Given the description of an element on the screen output the (x, y) to click on. 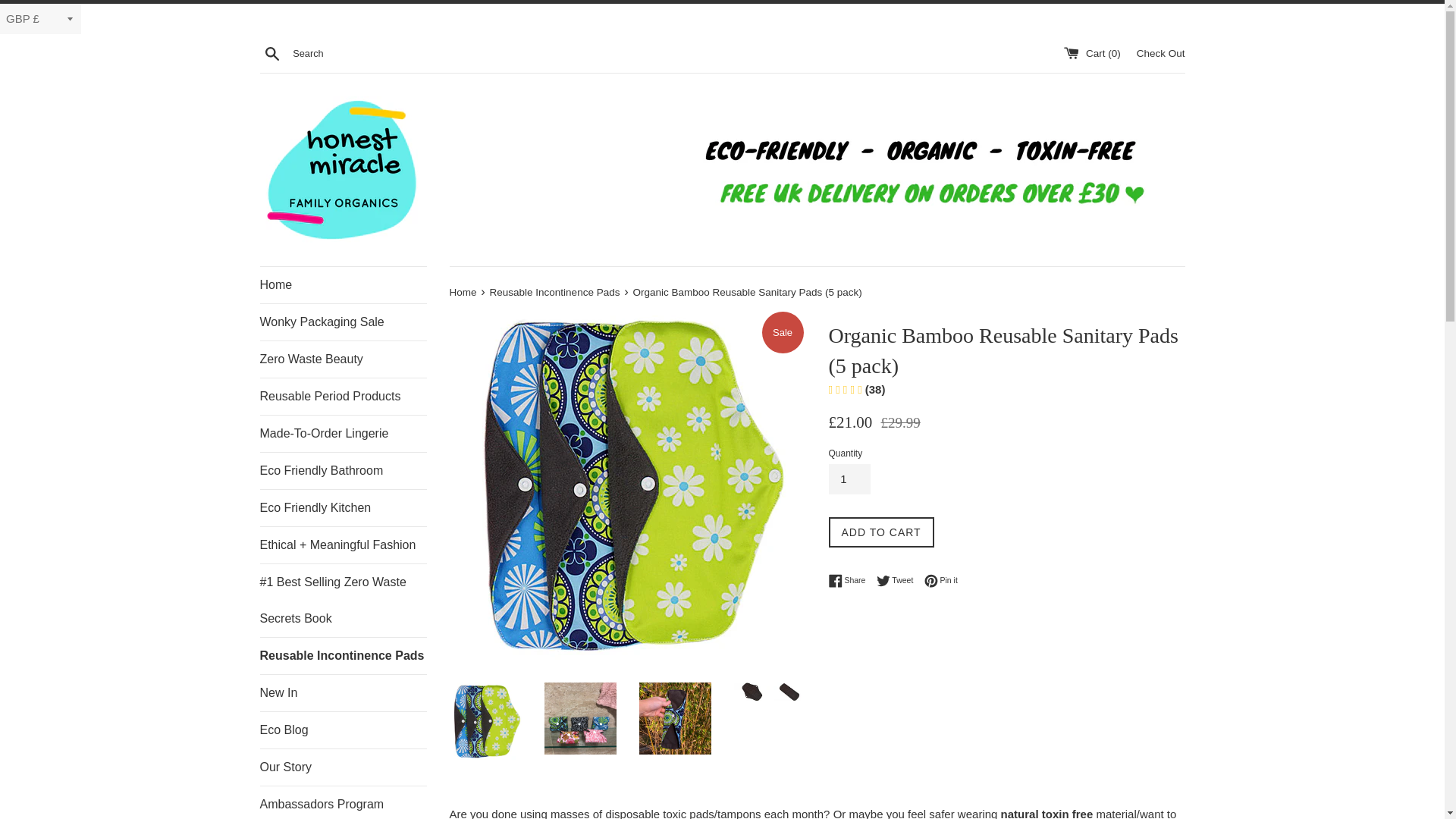
Reusable Period Products (342, 396)
Check Out (1161, 52)
Eco Friendly Bathroom (898, 581)
Zero Waste Beauty (342, 470)
Back to the frontpage (342, 359)
Ambassadors Program (463, 292)
Skip to content (342, 802)
Our Story (342, 284)
Share on Facebook (342, 767)
Eco Blog (850, 581)
1 (342, 729)
New In (848, 479)
